Given the description of an element on the screen output the (x, y) to click on. 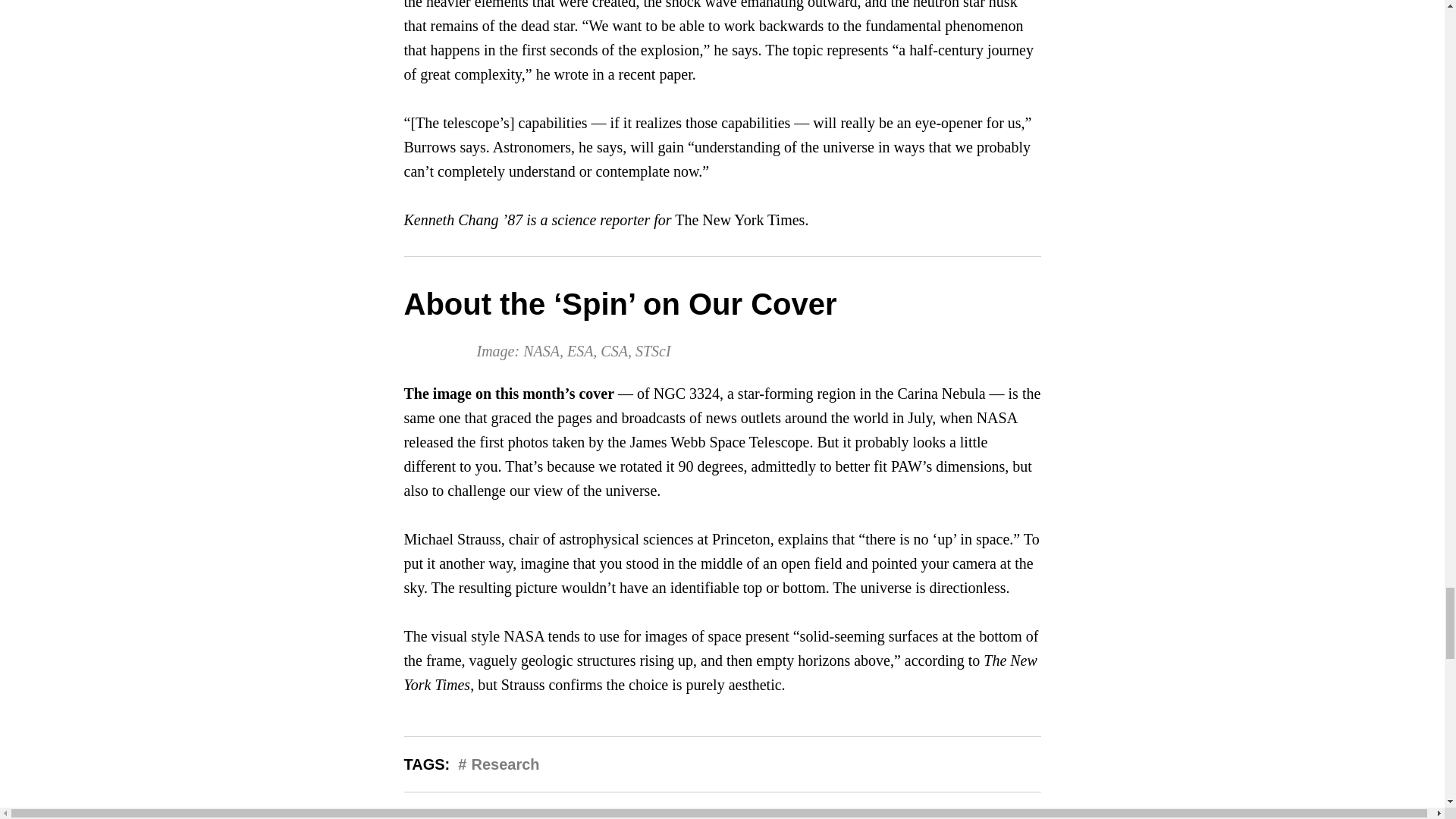
Research (504, 764)
